Given the description of an element on the screen output the (x, y) to click on. 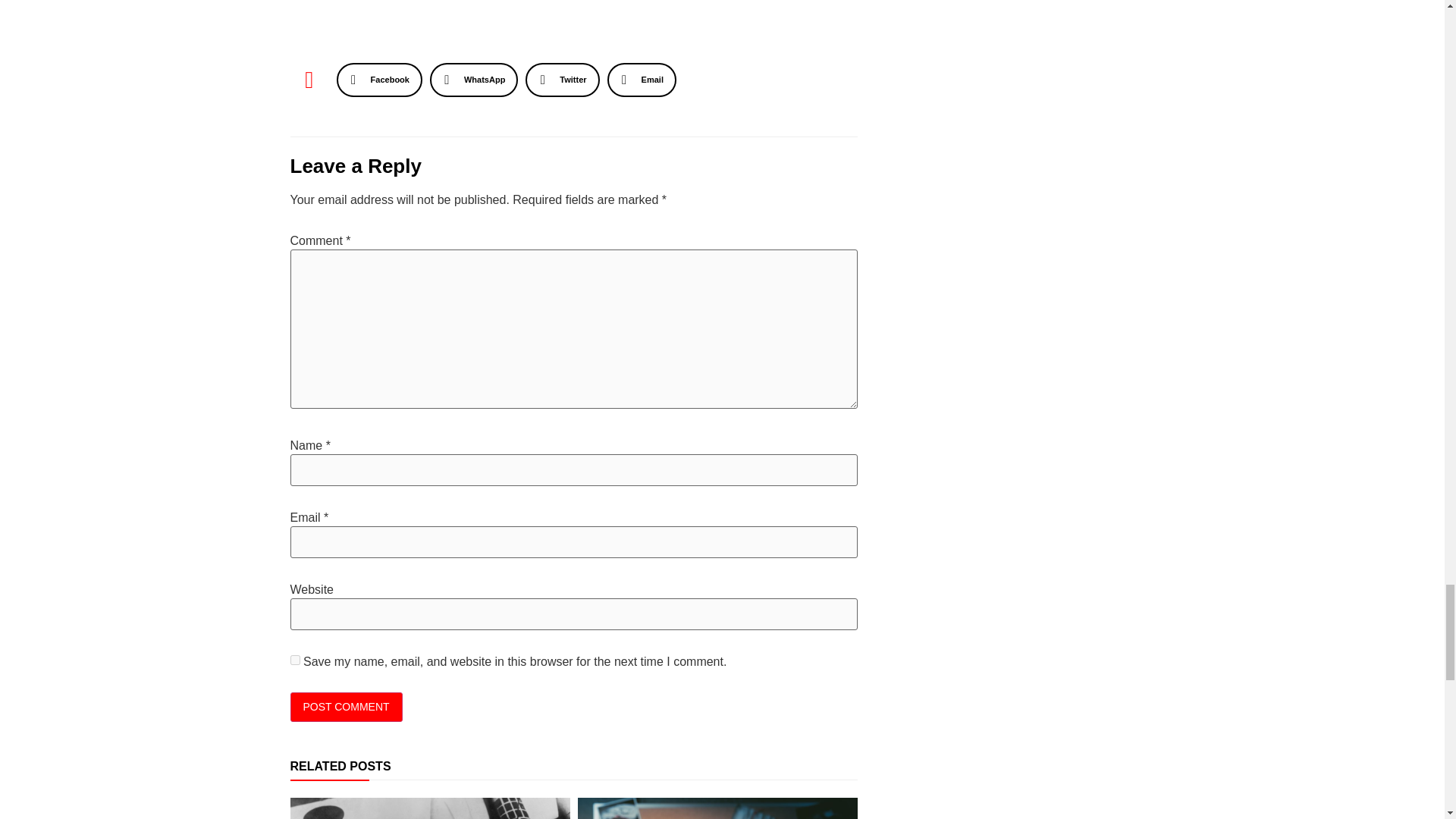
Post Comment (345, 706)
yes (294, 660)
Post Comment (345, 706)
